Given the description of an element on the screen output the (x, y) to click on. 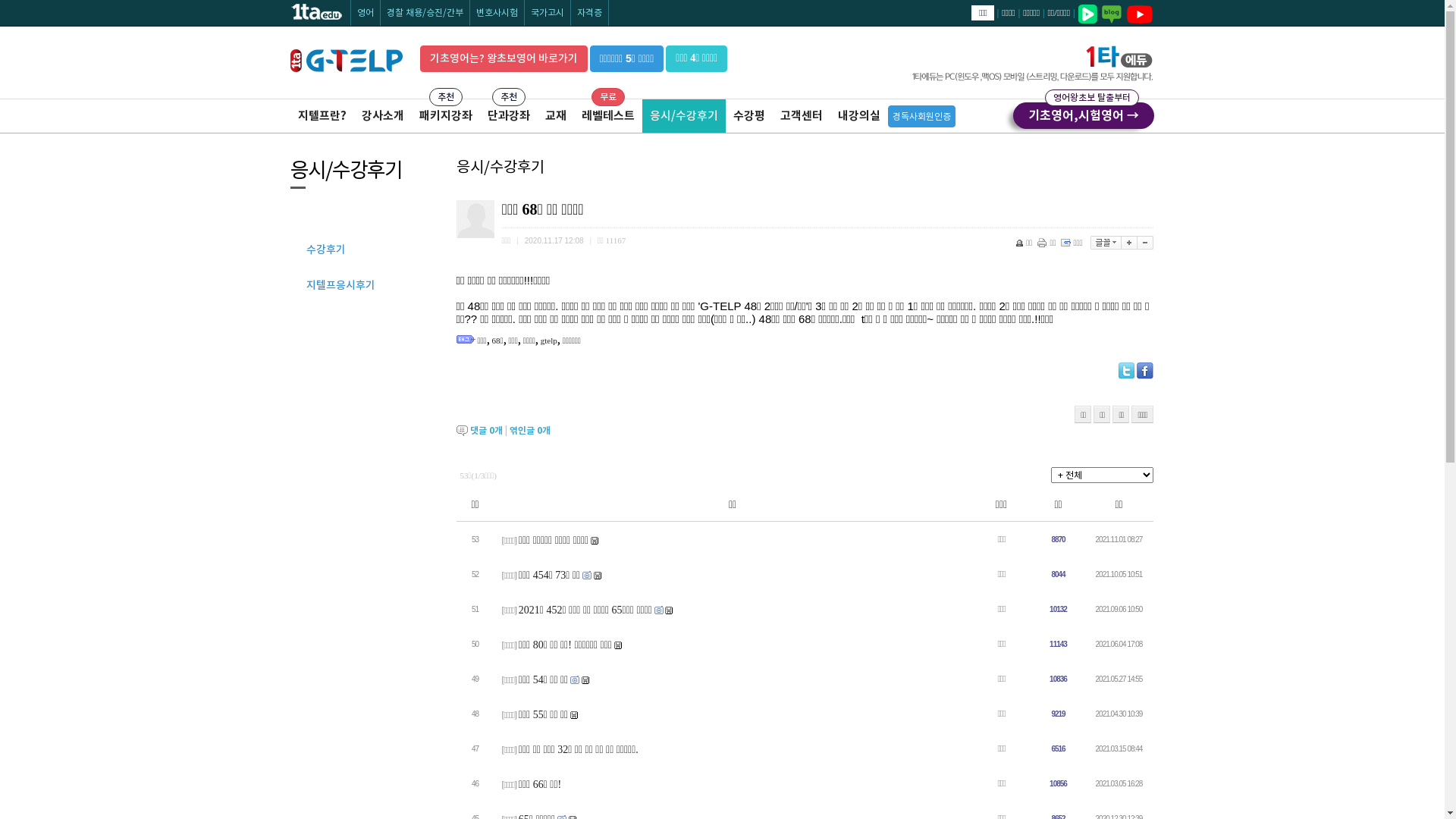
gtelp Element type: text (548, 340)
